Given the description of an element on the screen output the (x, y) to click on. 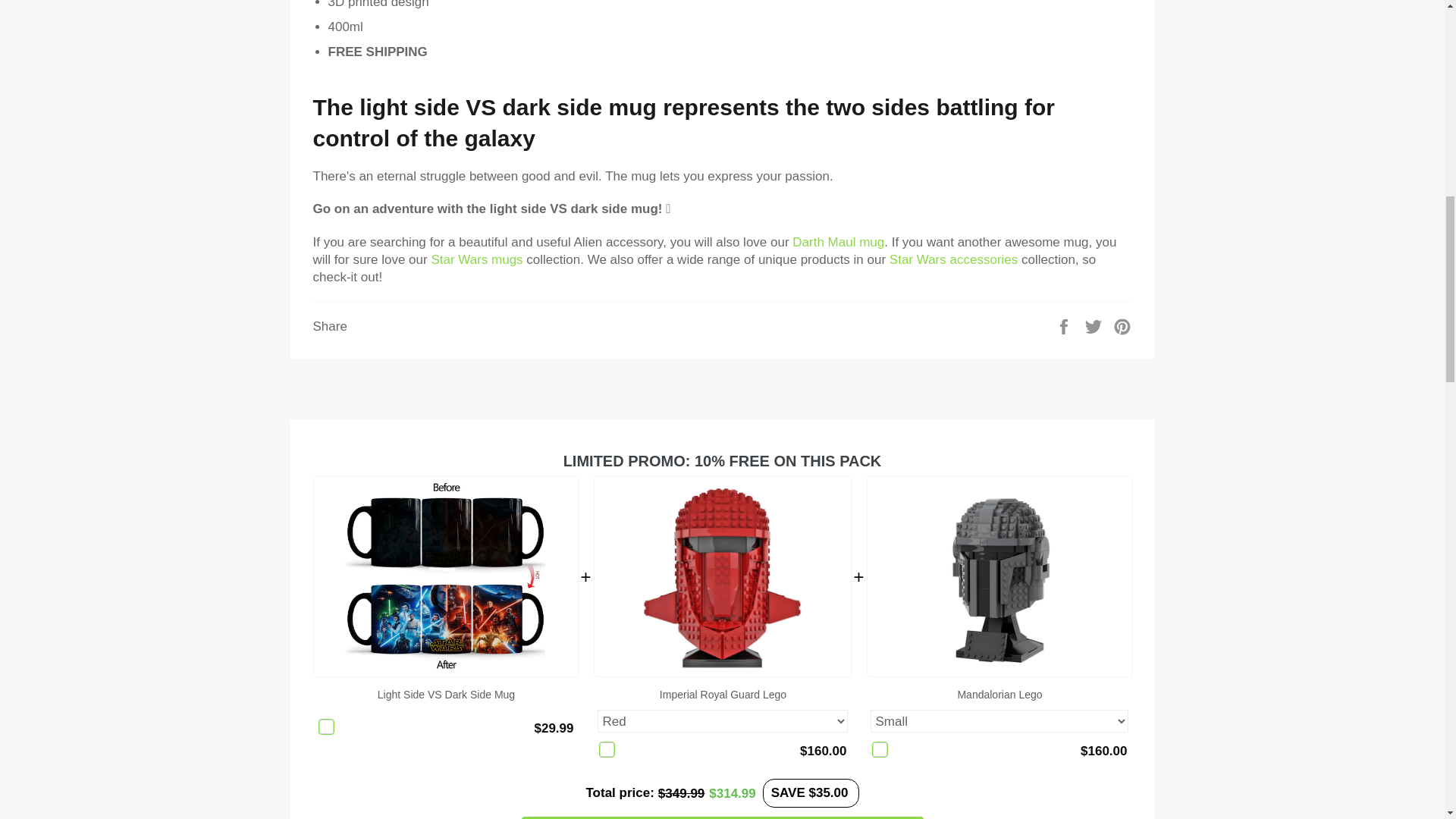
on (606, 749)
on (326, 726)
on (880, 749)
